Given the description of an element on the screen output the (x, y) to click on. 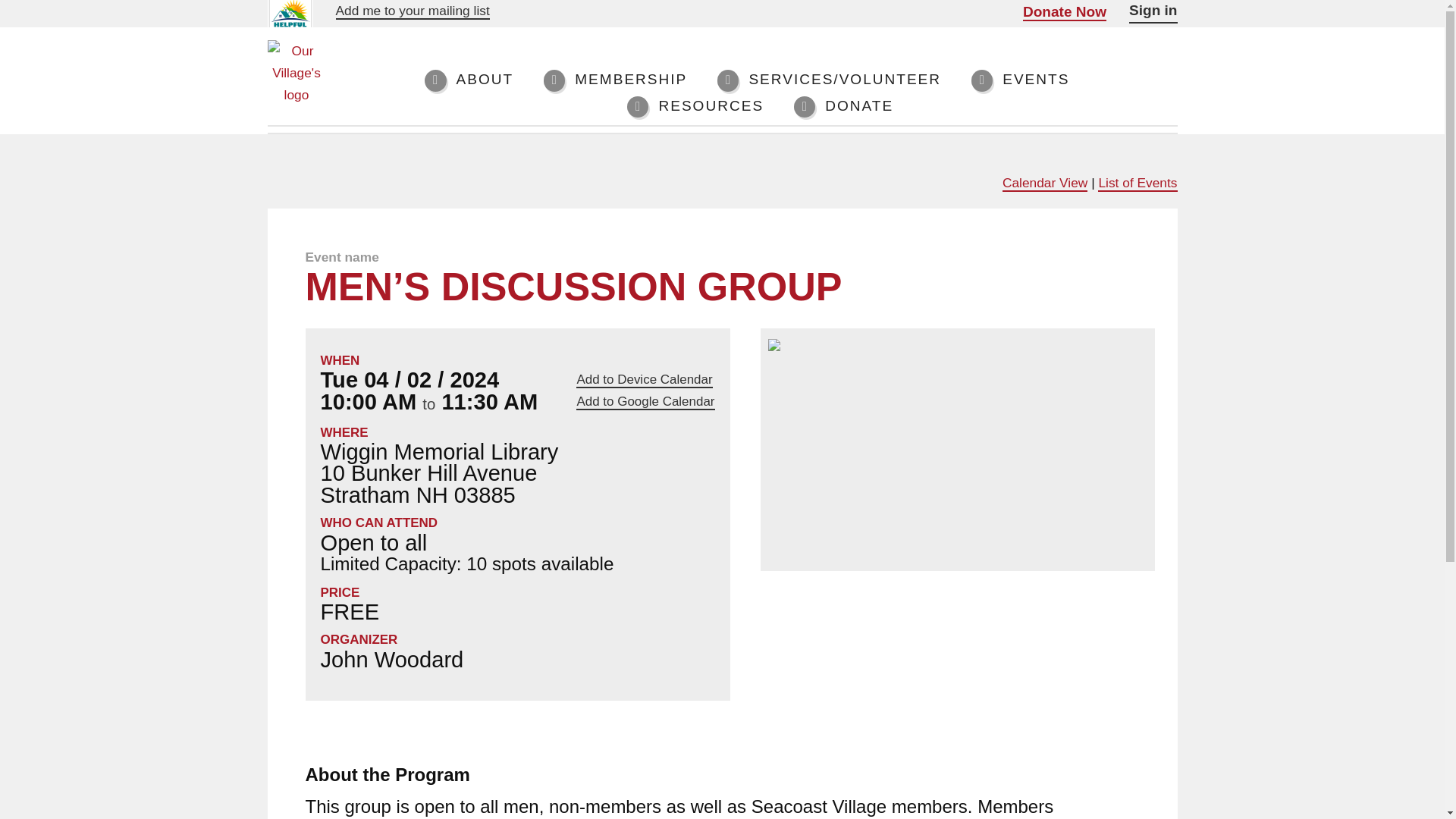
Add me to your mailing list (411, 11)
EVENTS (1020, 79)
Donate Now (1064, 12)
MEMBERSHIP (615, 79)
Add to Device Calendar (643, 380)
ABOUT (469, 79)
List of Events (1136, 183)
Calendar View (1045, 183)
DONATE (843, 106)
RESOURCES (694, 106)
